Given the description of an element on the screen output the (x, y) to click on. 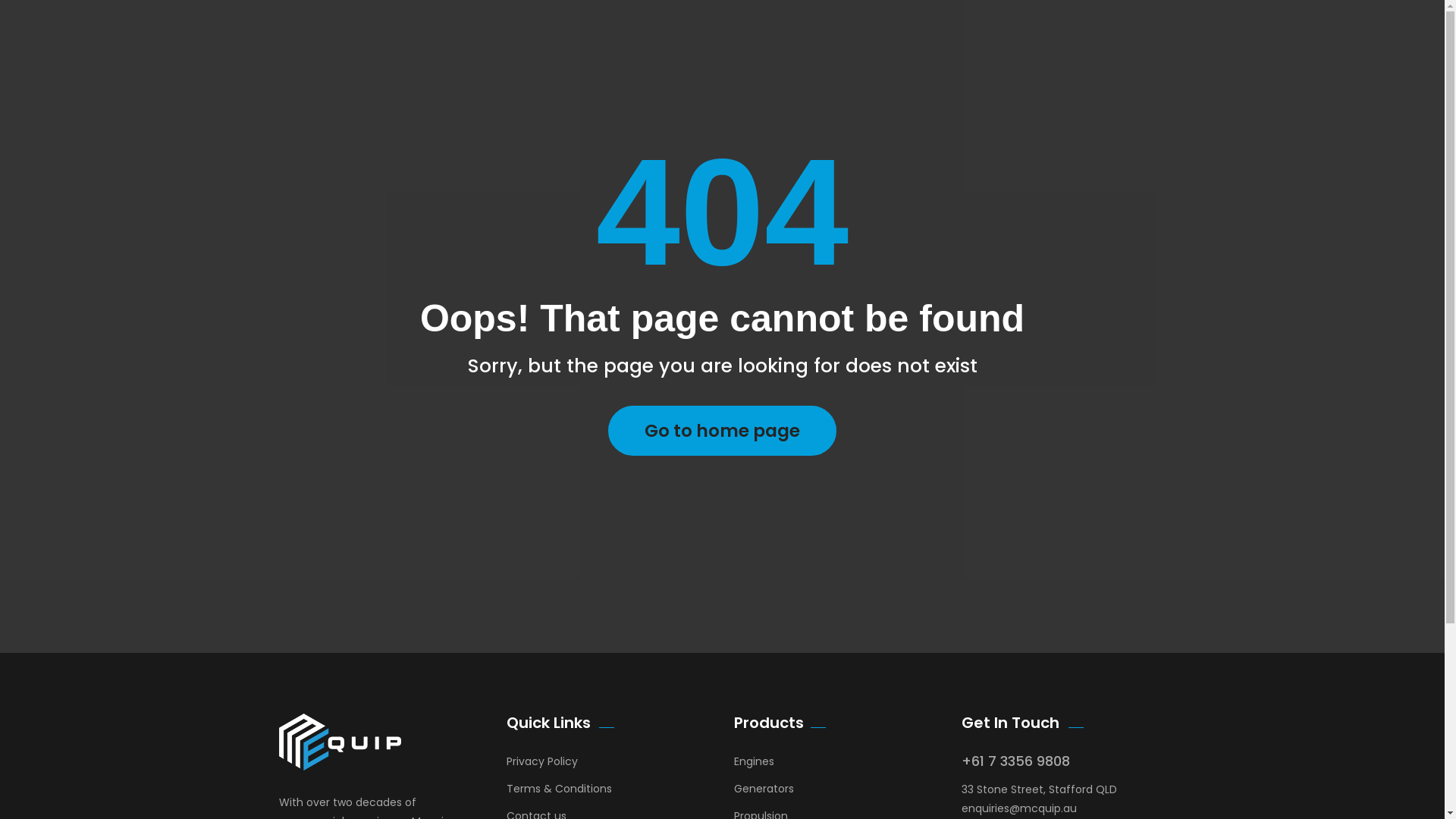
Privacy Policy Element type: text (541, 764)
Generators Element type: text (763, 792)
Engines Element type: text (754, 764)
Terms & Conditions Element type: text (558, 792)
Go to home page Element type: text (722, 430)
